Given the description of an element on the screen output the (x, y) to click on. 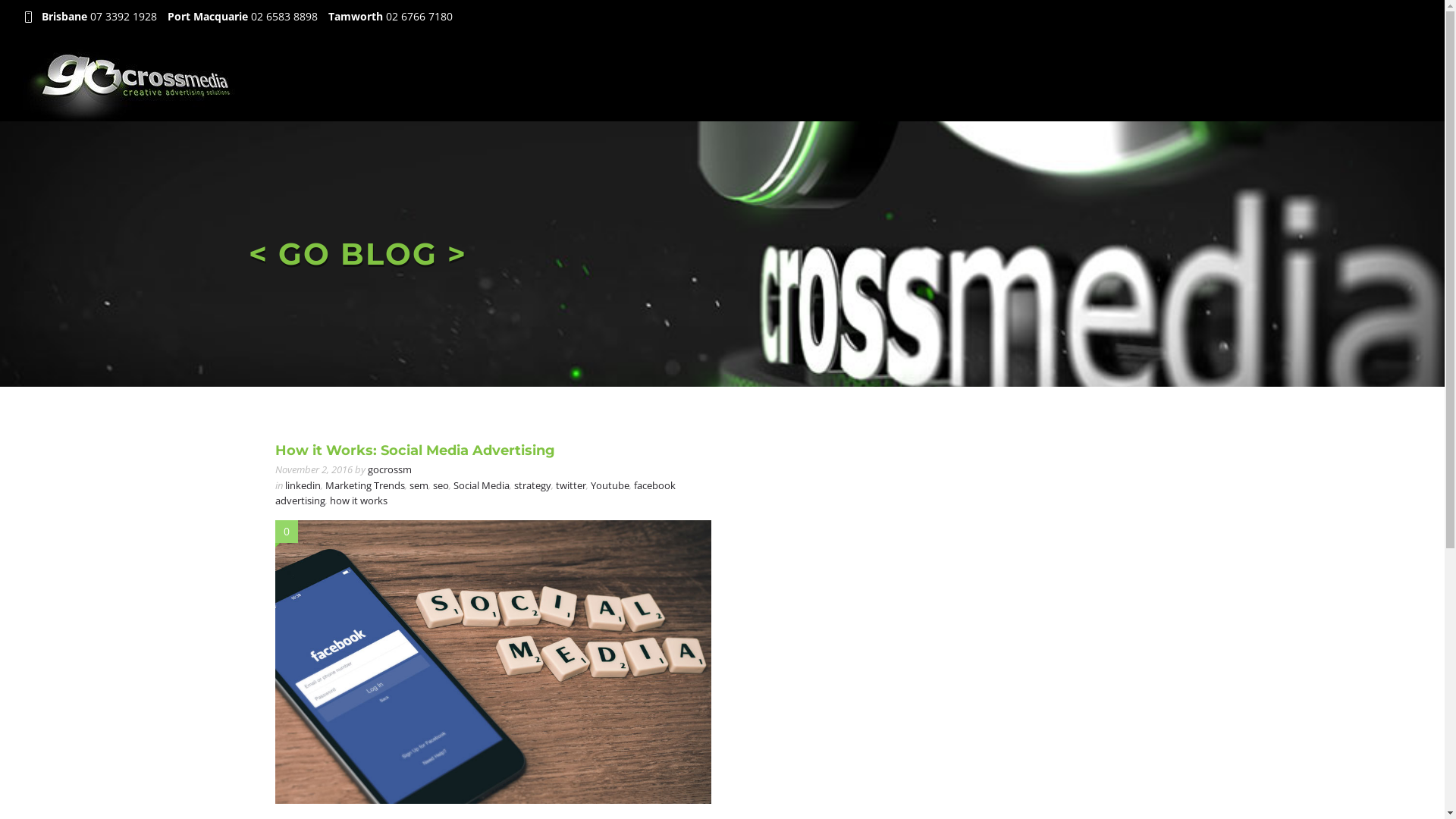
strategy Element type: text (532, 485)
sem Element type: text (418, 485)
gocrossm Element type: text (389, 469)
Youtube Element type: text (608, 485)
How it Works: Social Media Advertising Element type: text (414, 450)
facebook advertising Element type: text (474, 493)
twitter Element type: text (570, 485)
seo Element type: text (440, 485)
how it works Element type: text (357, 500)
Social Media Element type: text (481, 485)
linkedin Element type: text (302, 485)
Marketing Trends Element type: text (364, 485)
0 Element type: text (286, 531)
